Given the description of an element on the screen output the (x, y) to click on. 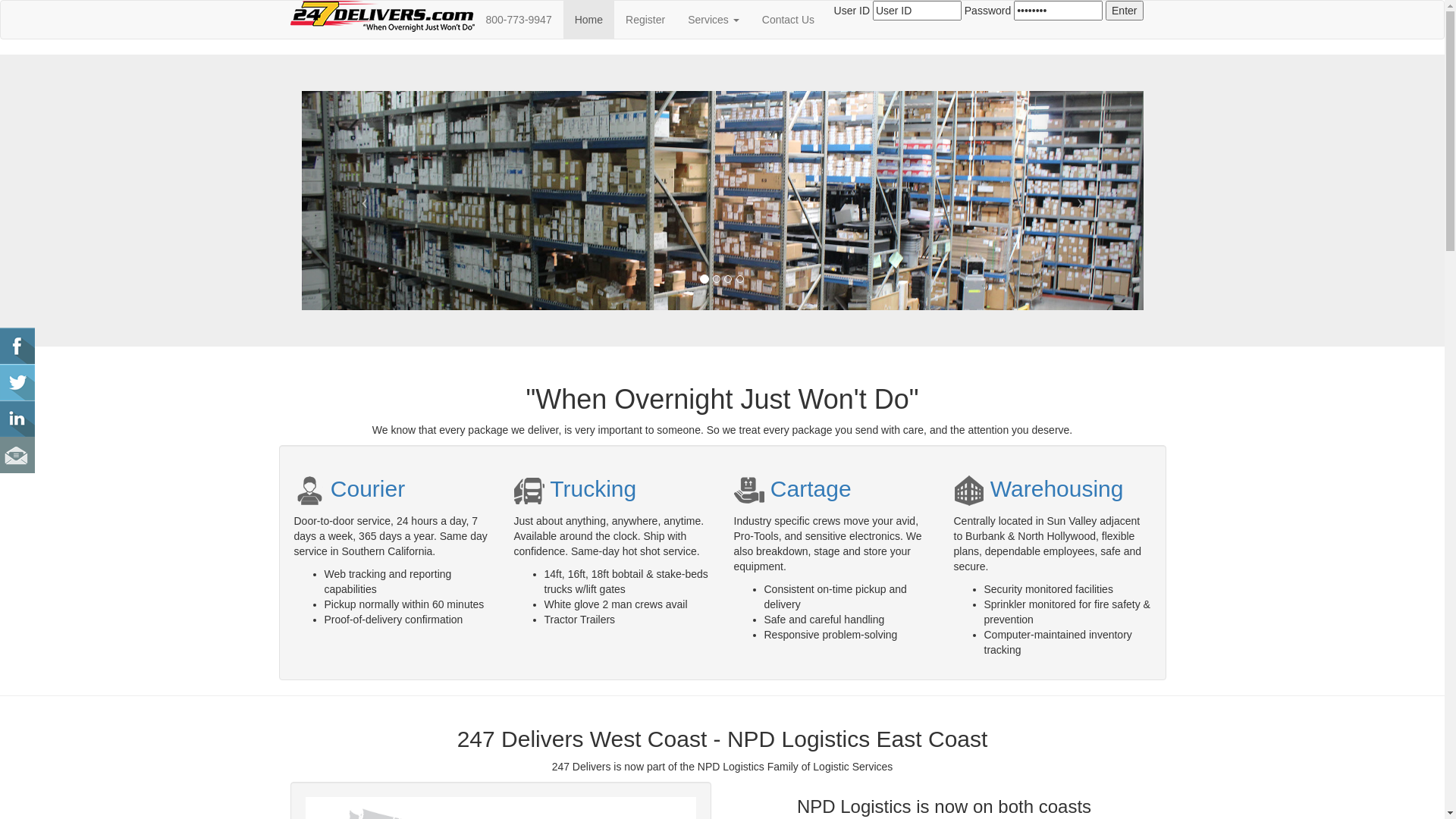
800-773-9947 Element type: text (518, 19)
User ID Element type: text (916, 10)
Contact Us Element type: text (787, 19)
Services Element type: text (713, 19)
Warehousing Element type: text (1038, 488)
Home
(current) Element type: text (588, 19)
Enter Element type: text (1123, 10)
Trucking Element type: text (575, 488)
Password Element type: text (1057, 10)
Courier Element type: text (349, 488)
Register Element type: text (645, 19)
Cartage Element type: text (792, 488)
